Given the description of an element on the screen output the (x, y) to click on. 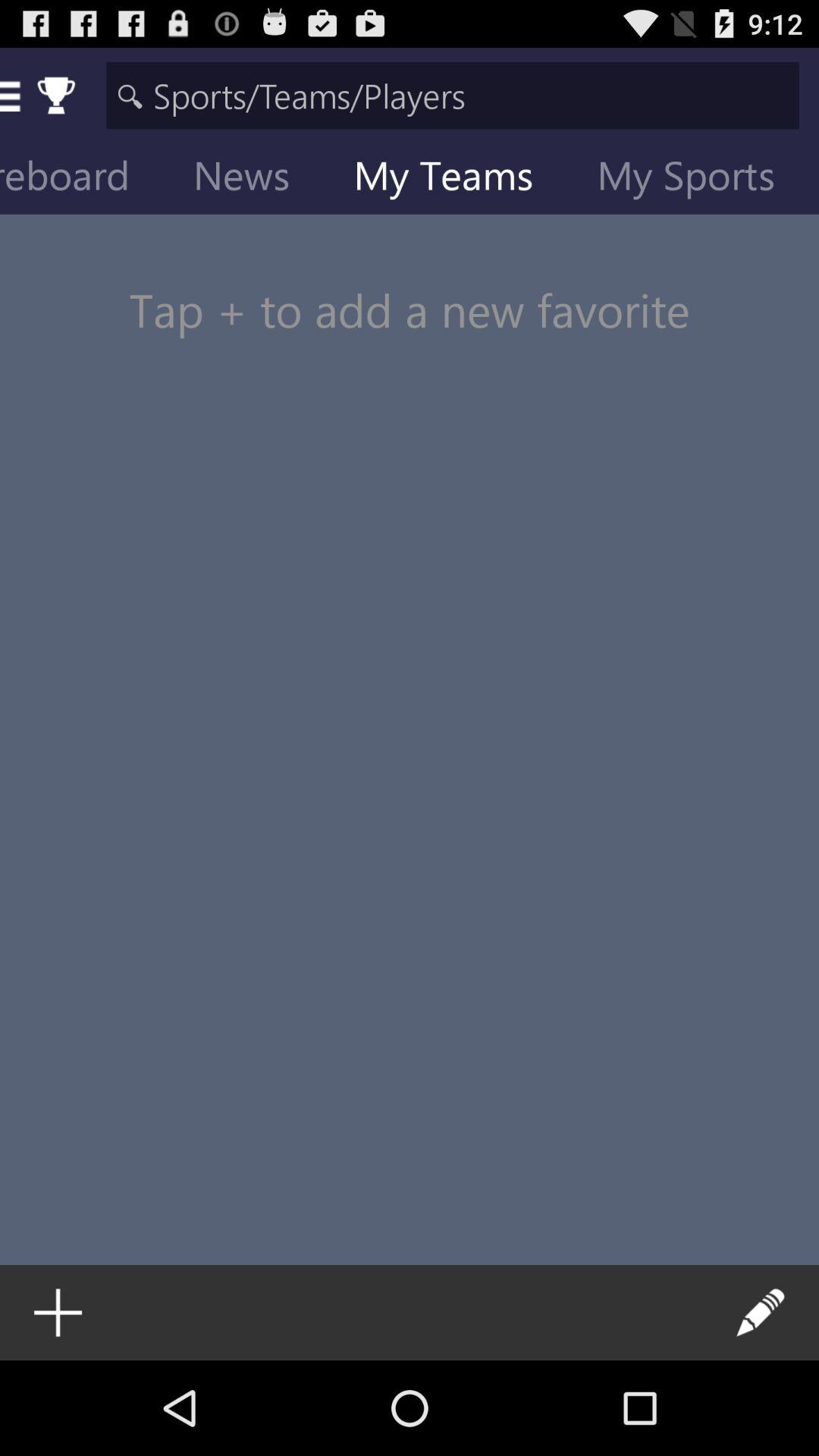
choose the icon to the left of the news item (86, 178)
